Given the description of an element on the screen output the (x, y) to click on. 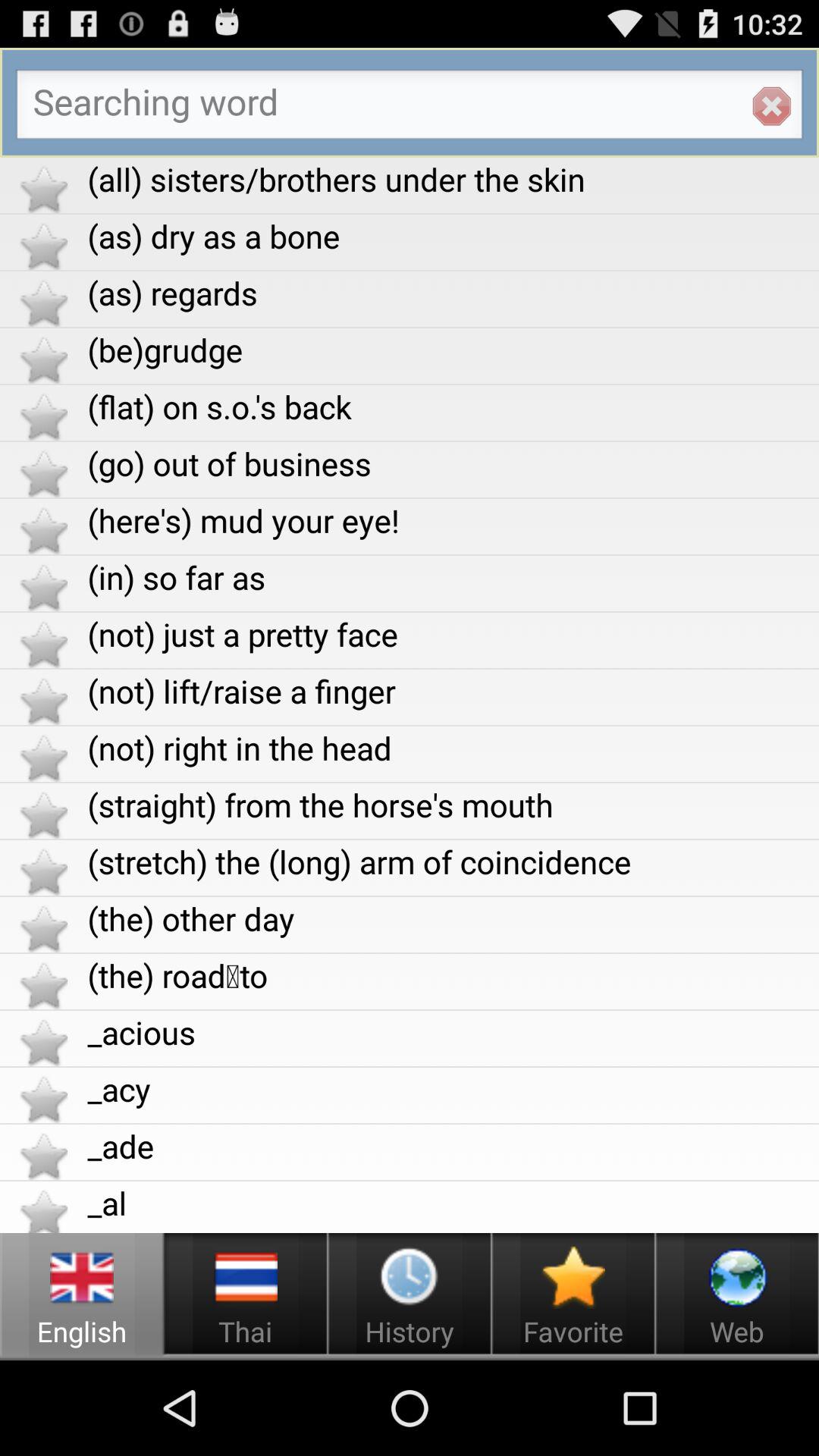
tap item below the (as) regards (453, 349)
